Given the description of an element on the screen output the (x, y) to click on. 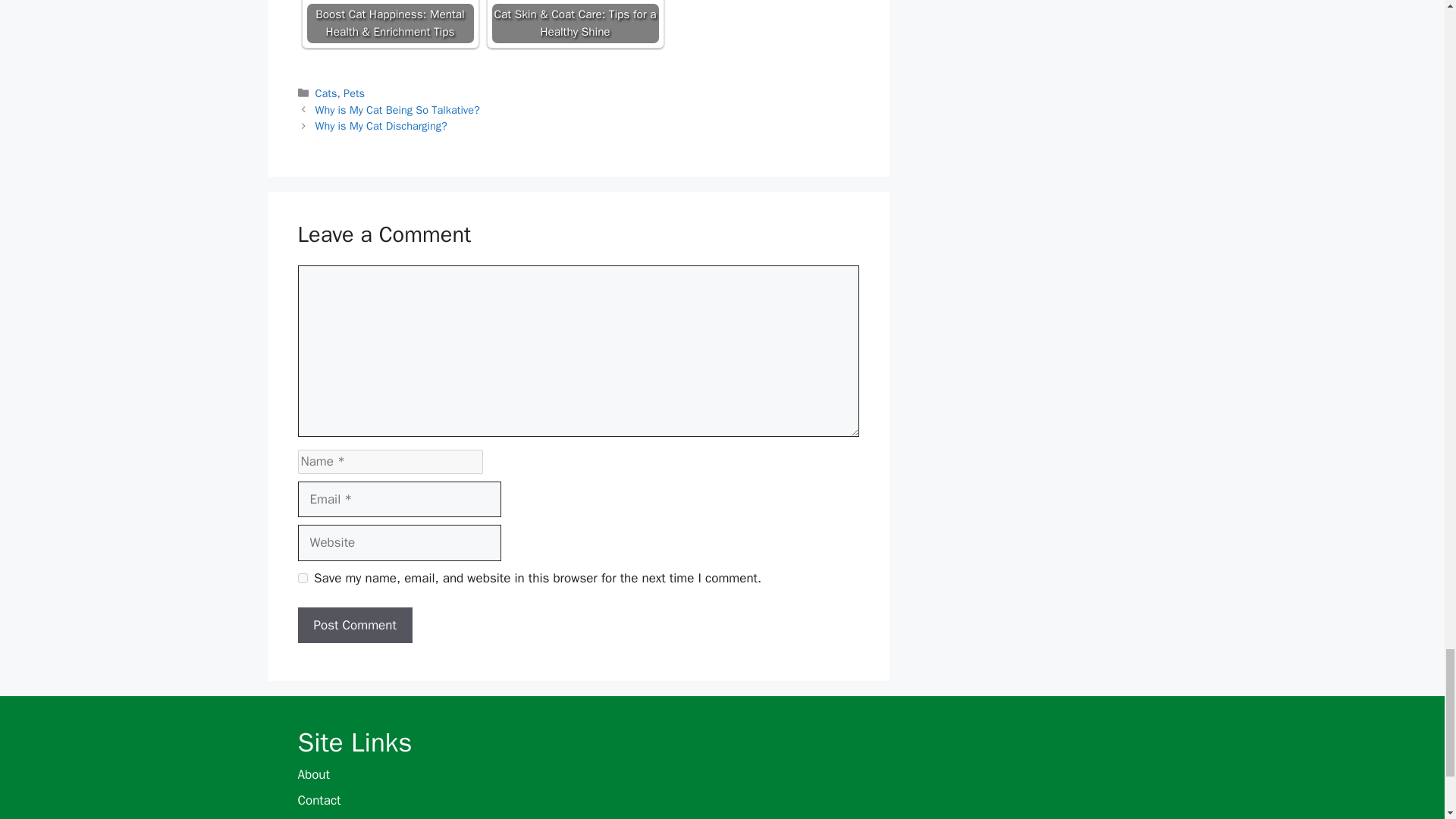
Post Comment (354, 625)
yes (302, 578)
